Given the description of an element on the screen output the (x, y) to click on. 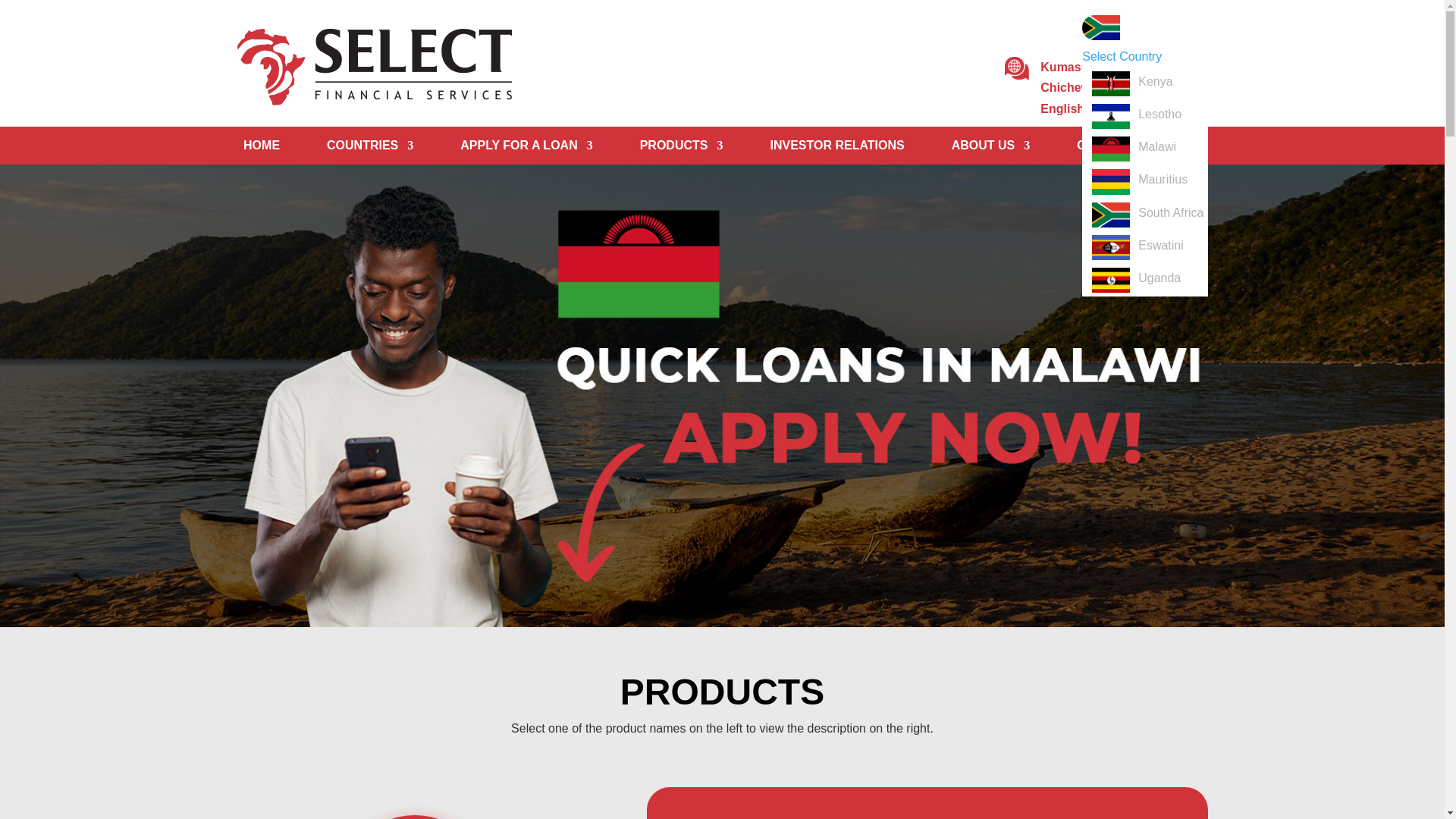
COUNTRIES (369, 148)
Chichewa (1084, 77)
Mauritius (1158, 181)
South Africa (1166, 214)
Translate to English (1103, 97)
Kenya (1150, 83)
Lesotho (1154, 116)
APPLY FOR A LOAN (526, 148)
English (1103, 97)
HOME (261, 148)
